Given the description of an element on the screen output the (x, y) to click on. 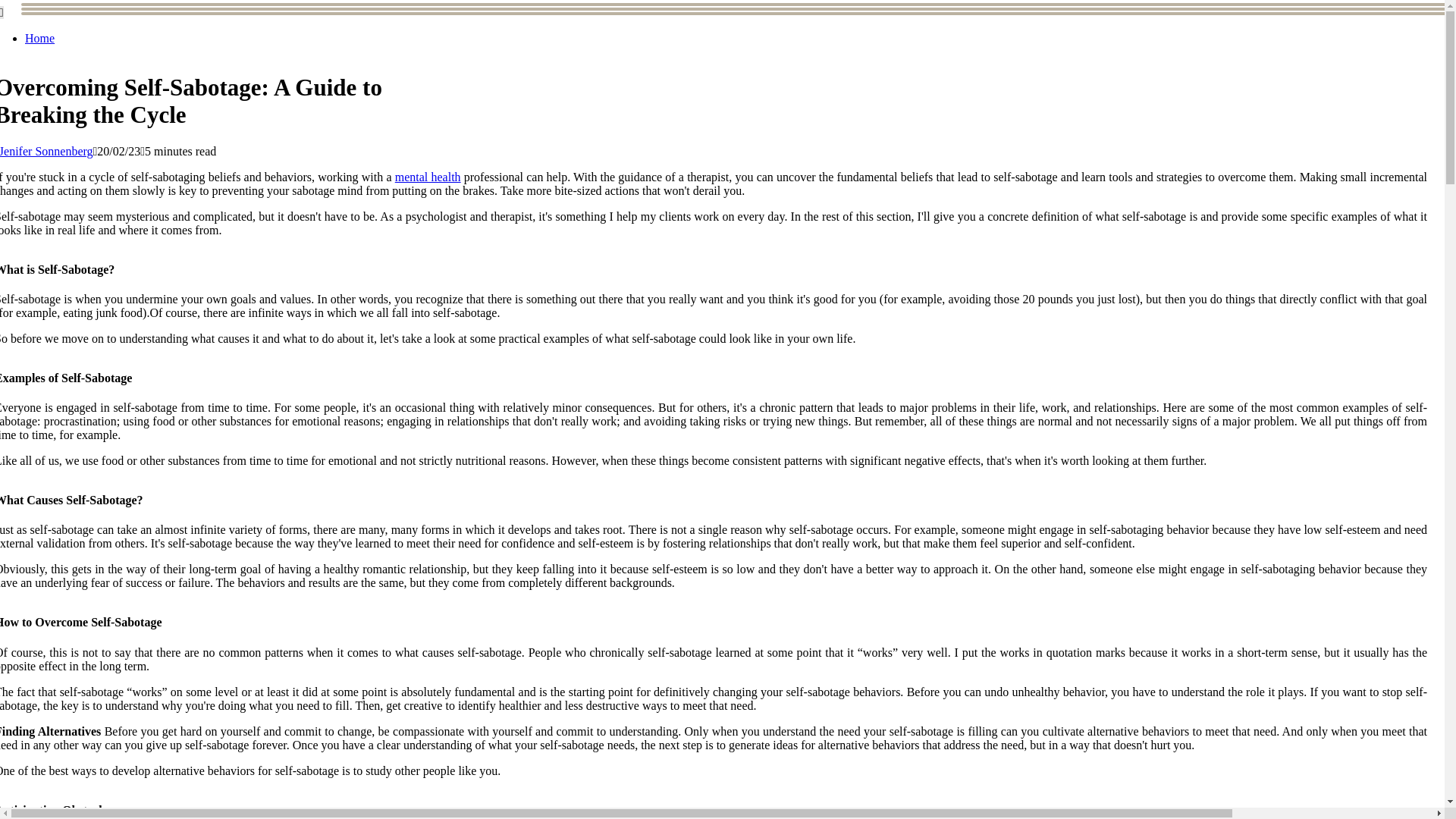
Home (39, 38)
Jenifer Sonnenberg (46, 151)
mental health (427, 176)
Posts by Jenifer Sonnenberg (46, 151)
